Given the description of an element on the screen output the (x, y) to click on. 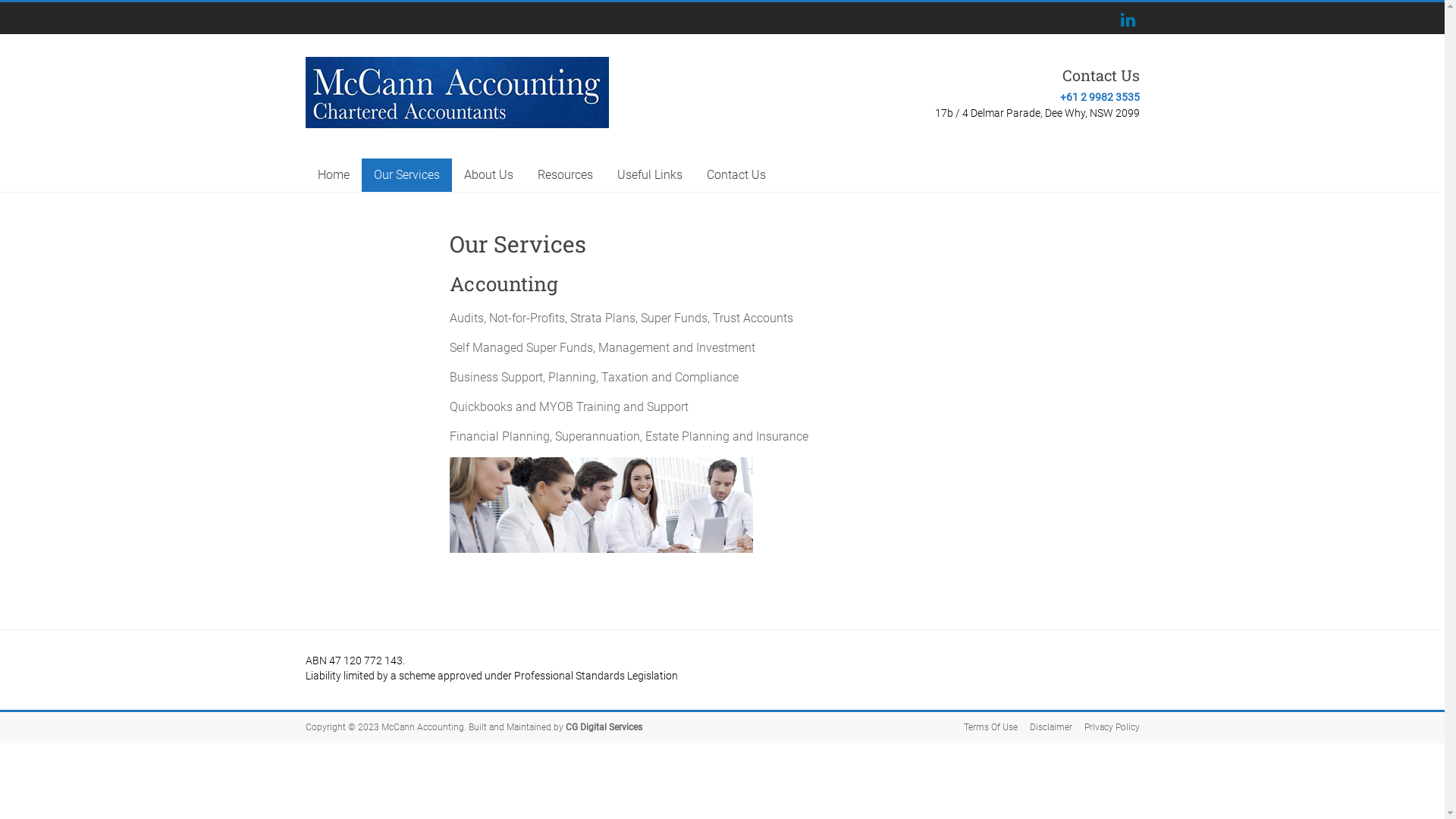
Contact Us Element type: text (736, 174)
+61 2 9982 3535 Element type: text (1099, 97)
McCann Accounting Element type: text (421, 726)
Useful Links Element type: text (649, 174)
Home Element type: text (332, 174)
Terms Of Use Element type: text (983, 727)
Disclaimer Element type: text (1044, 727)
McCann Accounting Element type: text (379, 92)
Resources Element type: text (564, 174)
Our Services Element type: text (405, 174)
Privacy Policy Element type: text (1105, 727)
About Us Element type: text (488, 174)
CG Digital Services Element type: text (603, 726)
